Given the description of an element on the screen output the (x, y) to click on. 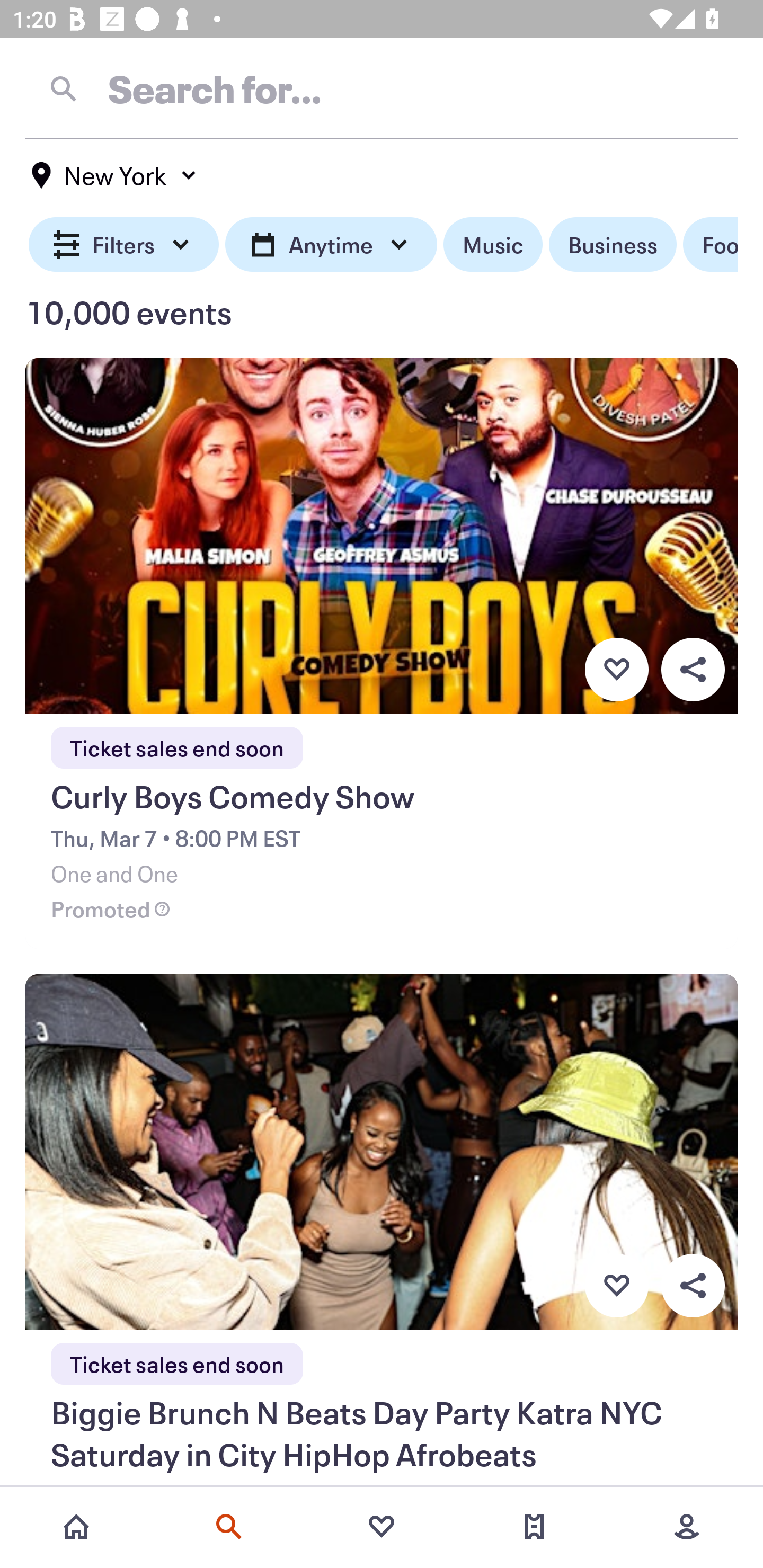
Search for… (381, 88)
New York (114, 175)
Filters (123, 244)
Anytime (331, 244)
Music (492, 244)
Business (612, 244)
Favorite button (616, 669)
Overflow menu button (692, 669)
Favorite button (616, 1285)
Overflow menu button (692, 1285)
Home (76, 1526)
Search events (228, 1526)
Favorites (381, 1526)
Tickets (533, 1526)
More (686, 1526)
